Given the description of an element on the screen output the (x, y) to click on. 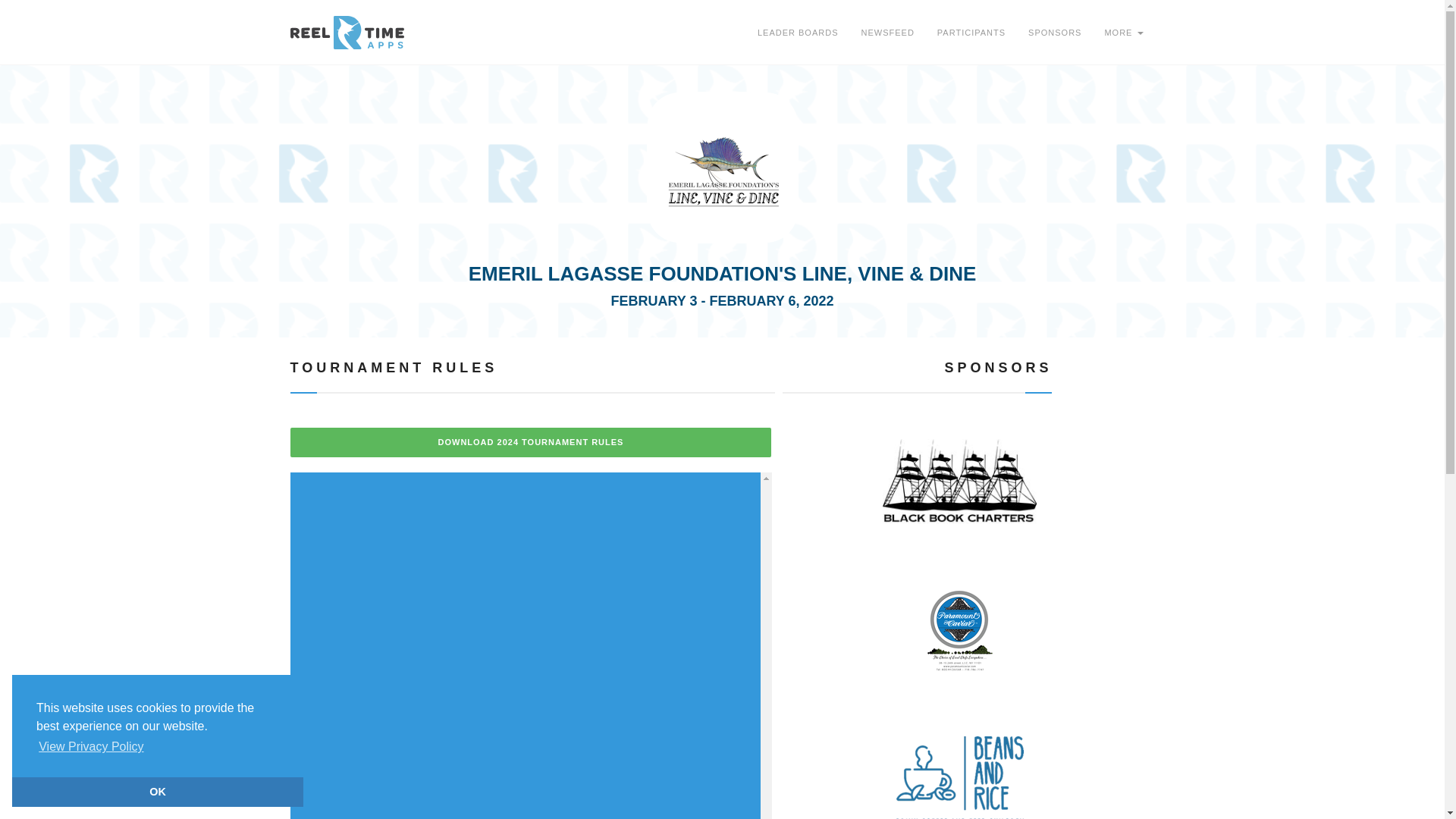
OK (156, 791)
SPONSORS (1054, 32)
View Privacy Policy (91, 746)
PARTICIPANTS (971, 32)
NEWSFEED (886, 32)
MORE (1123, 32)
DOWNLOAD 2024 TOURNAMENT RULES (530, 442)
LEADER BOARDS (797, 32)
